Given the description of an element on the screen output the (x, y) to click on. 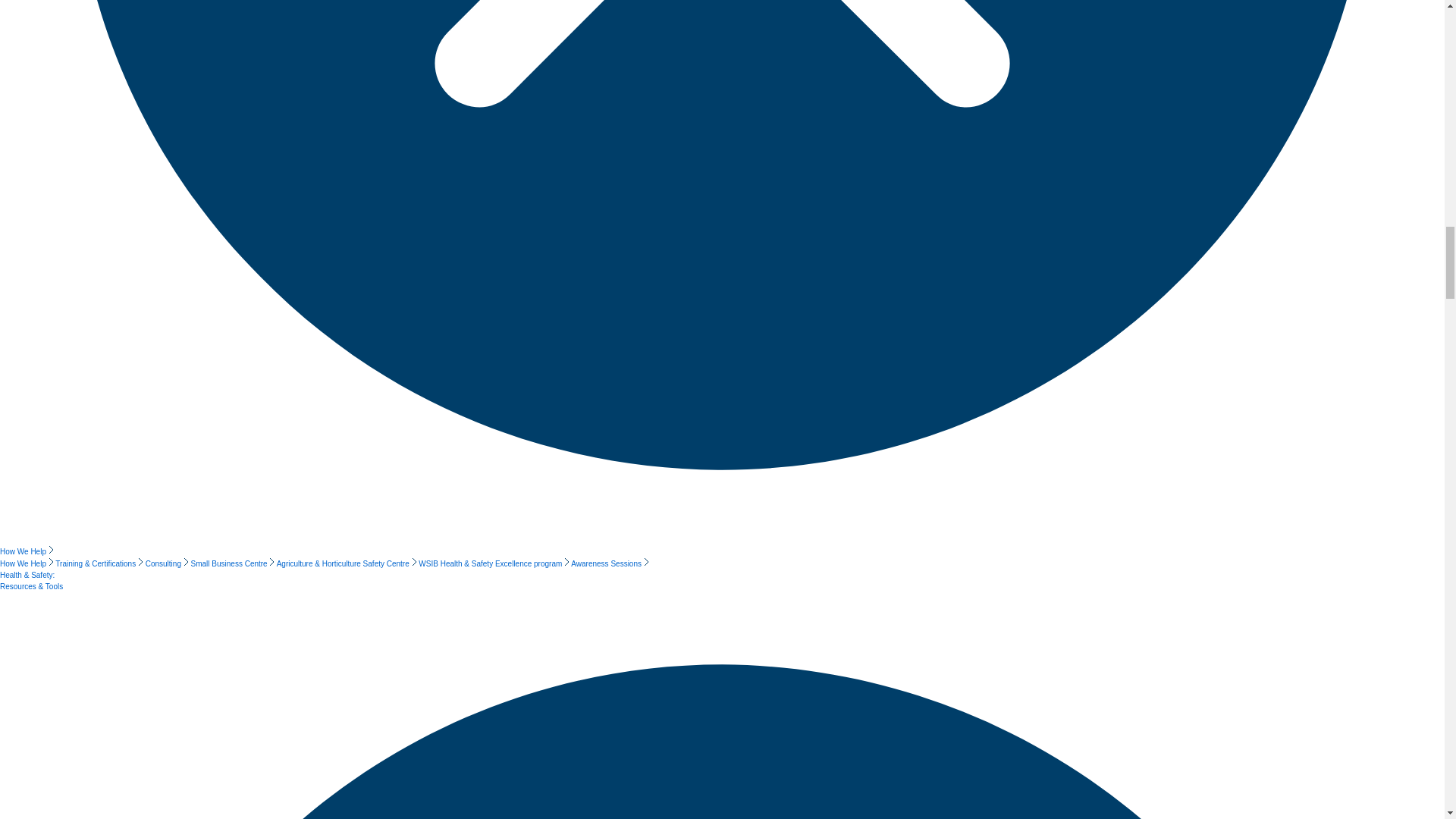
Consulting (167, 563)
Small Business Centre (233, 563)
How We Help (26, 551)
Awareness Sessions (608, 563)
How We Help (27, 563)
